Given the description of an element on the screen output the (x, y) to click on. 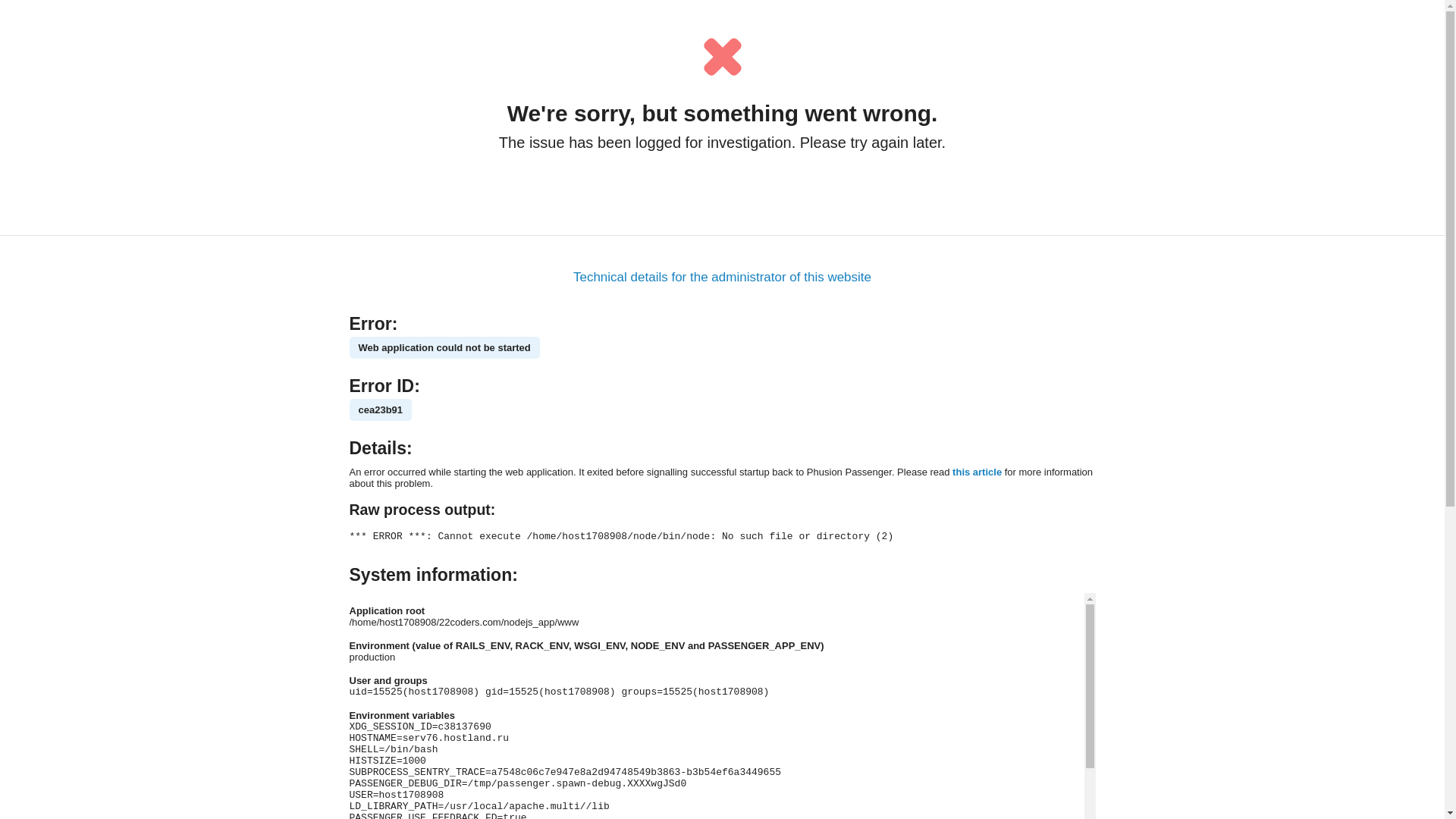
Technical details for the administrator of this website Element type: text (722, 276)
this article Element type: text (976, 471)
